Given the description of an element on the screen output the (x, y) to click on. 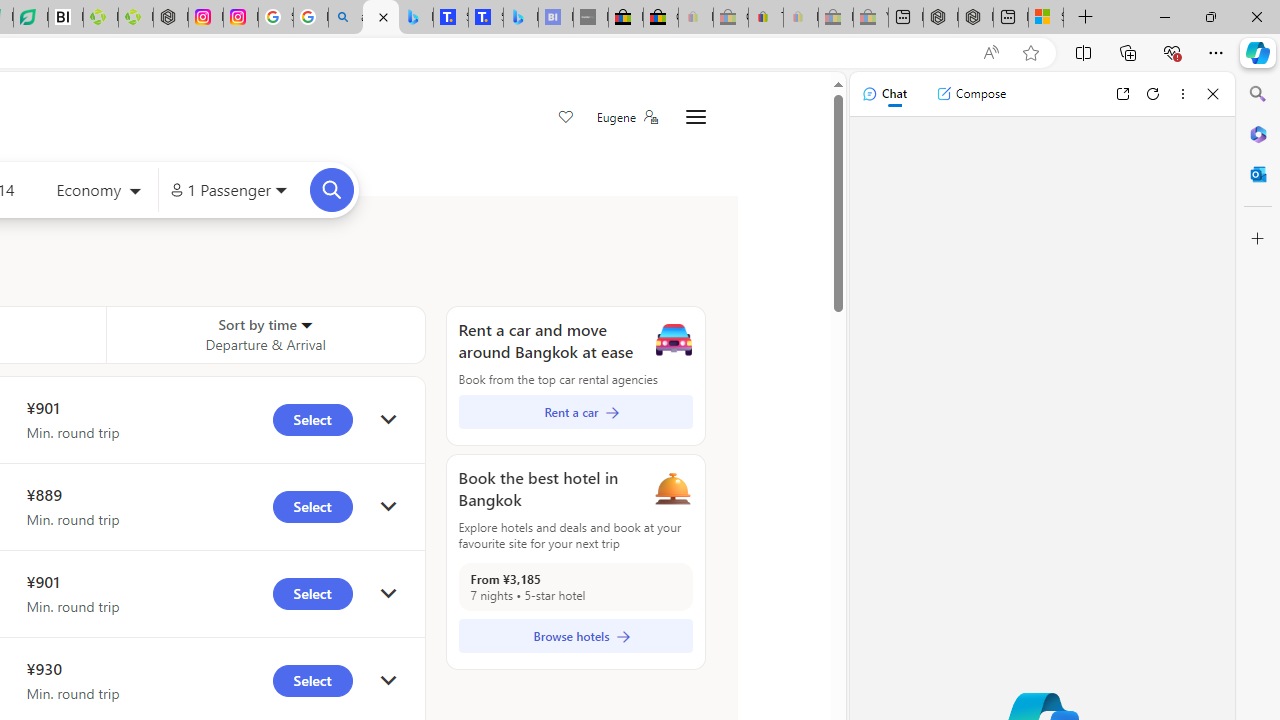
Save (565, 118)
Payments Terms of Use | eBay.com - Sleeping (800, 17)
click to get details (388, 680)
1 Passenger (228, 189)
Select class of service (98, 192)
Nordace - Summer Adventures 2024 (975, 17)
